Given the description of an element on the screen output the (x, y) to click on. 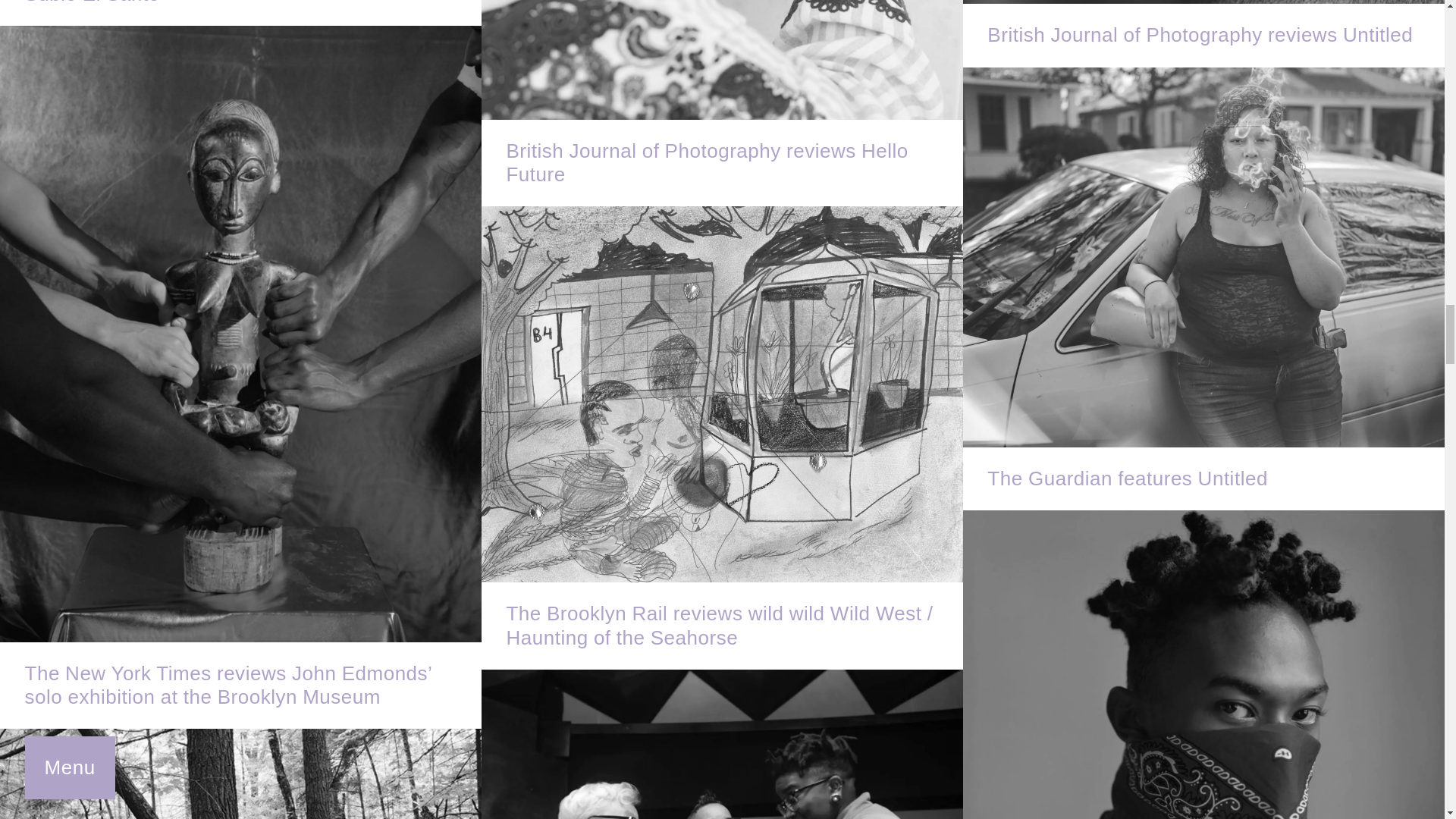
British Journal of Photography reviews Hello Future (721, 103)
